Given the description of an element on the screen output the (x, y) to click on. 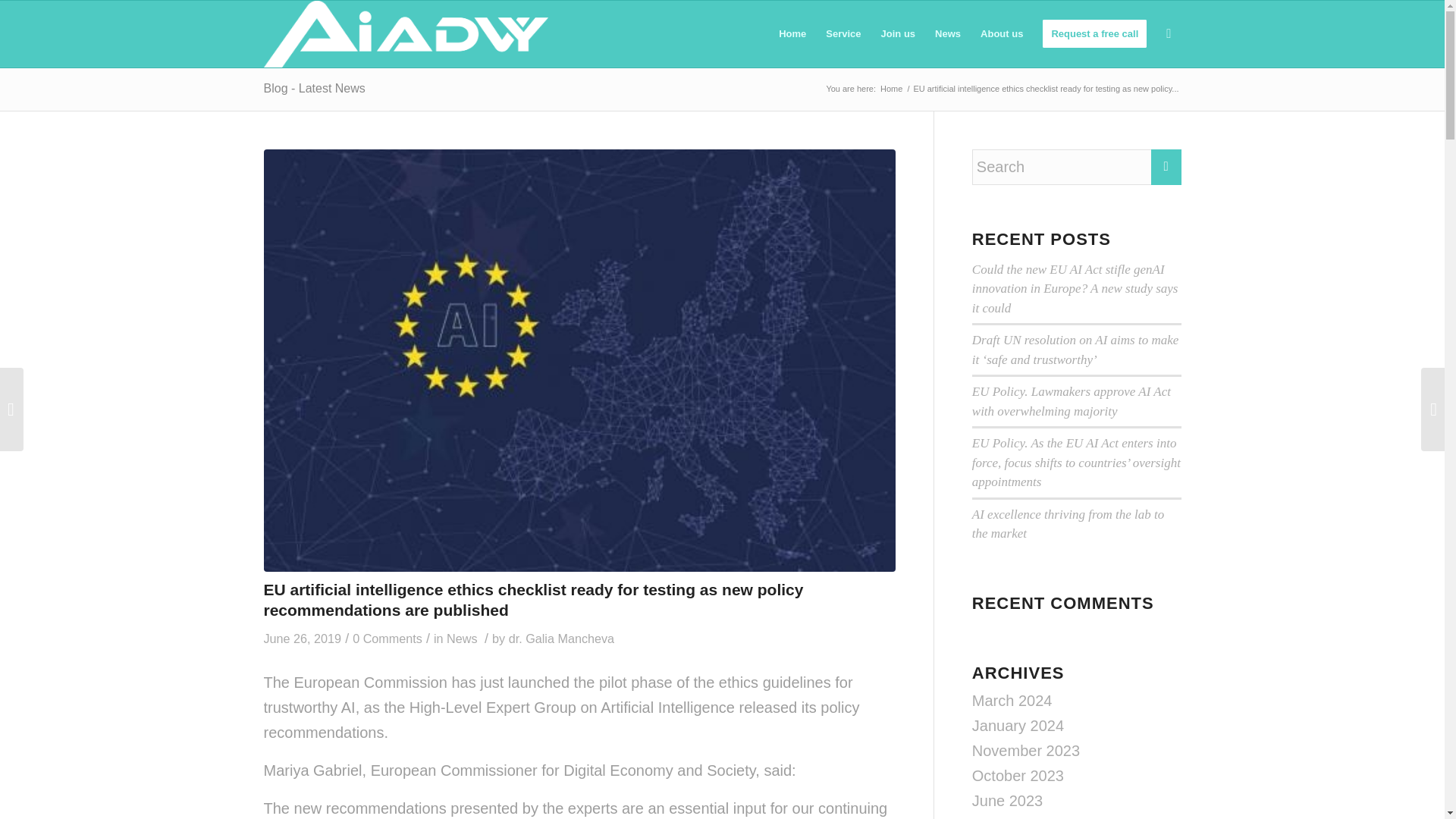
News (461, 638)
Posts by dr. Galia Mancheva (561, 638)
AI-Advy (890, 89)
About us (1001, 33)
0 Comments (387, 638)
Request a free call (1094, 33)
Blog - Latest News (314, 88)
Permanent Link: Blog - Latest News (314, 88)
Home (890, 89)
dr. Galia Mancheva (561, 638)
